Given the description of an element on the screen output the (x, y) to click on. 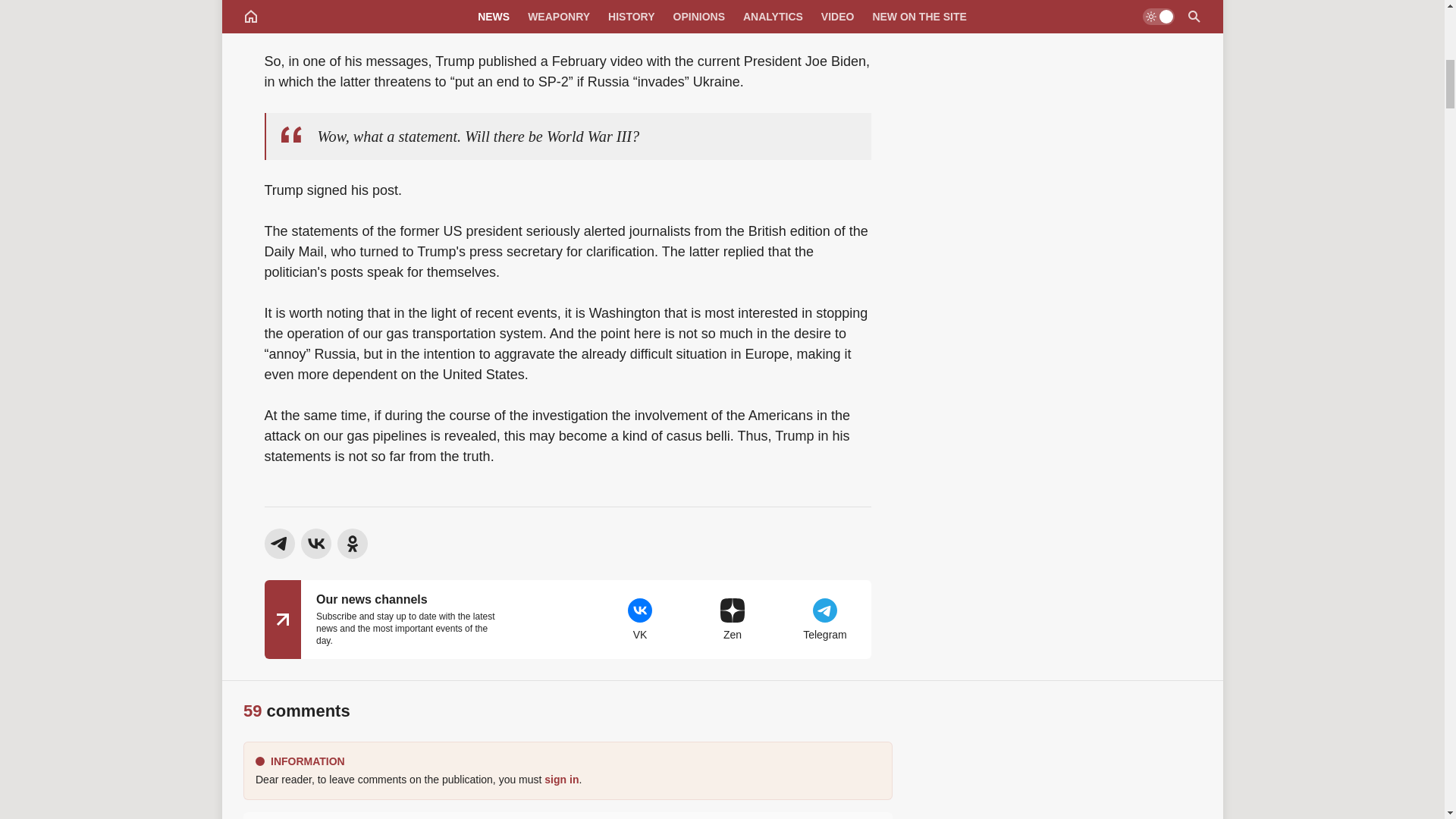
Share on VK (314, 543)
Share on Telegram (278, 543)
Share on Odnoklassniki (351, 543)
